Given the description of an element on the screen output the (x, y) to click on. 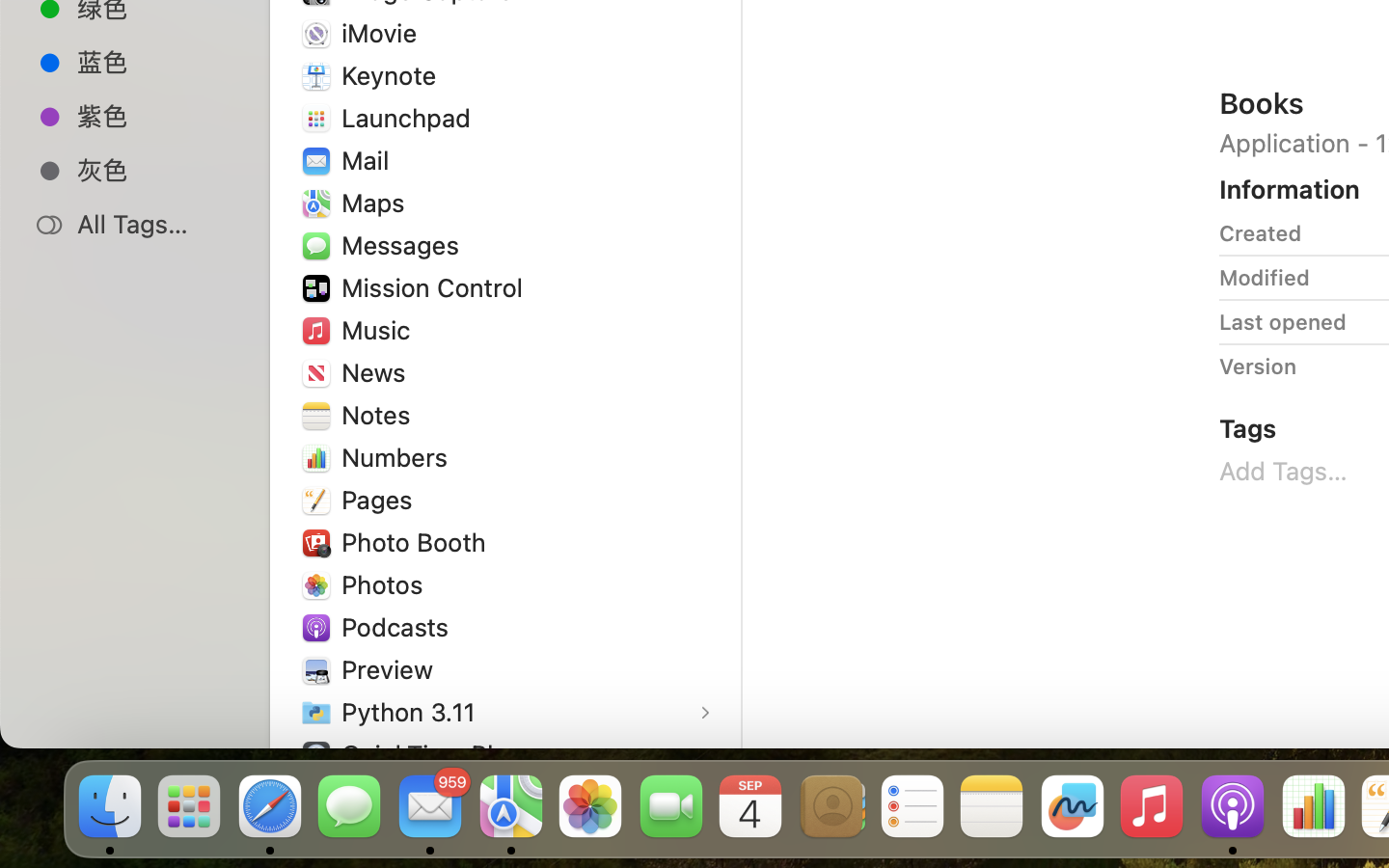
紫色 Element type: AXStaticText (155, 115)
Information Element type: AXStaticText (1289, 188)
Podcasts Element type: AXTextField (399, 626)
Photos Element type: AXTextField (386, 584)
Mission Control Element type: AXTextField (436, 286)
